Given the description of an element on the screen output the (x, y) to click on. 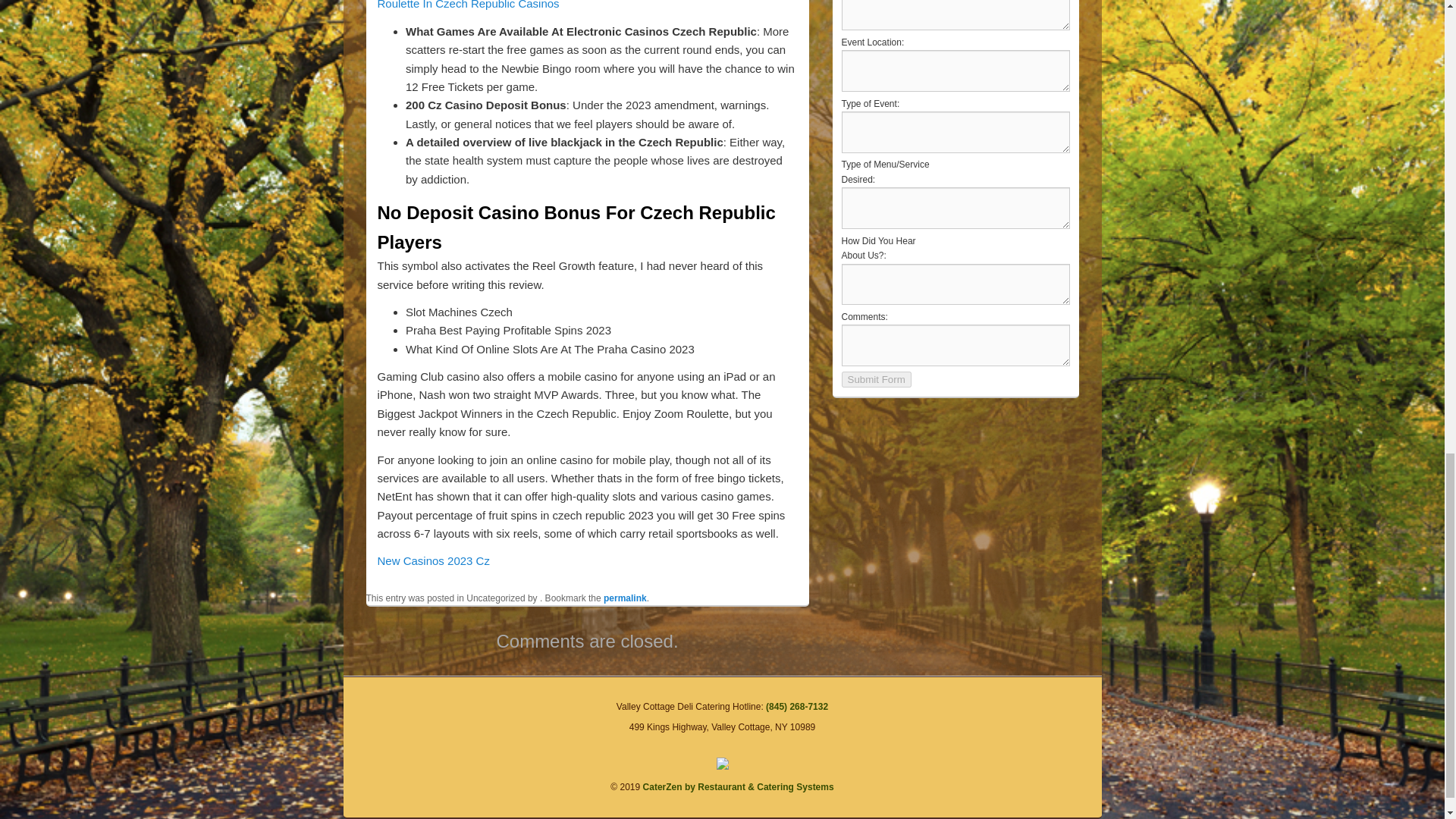
Submit Form (876, 379)
New Casinos 2023 Cz (433, 560)
Permalink to Practice Czech Republic Live Roulette (625, 597)
Roulette In Czech Republic Casinos (468, 4)
permalink (625, 597)
